Given the description of an element on the screen output the (x, y) to click on. 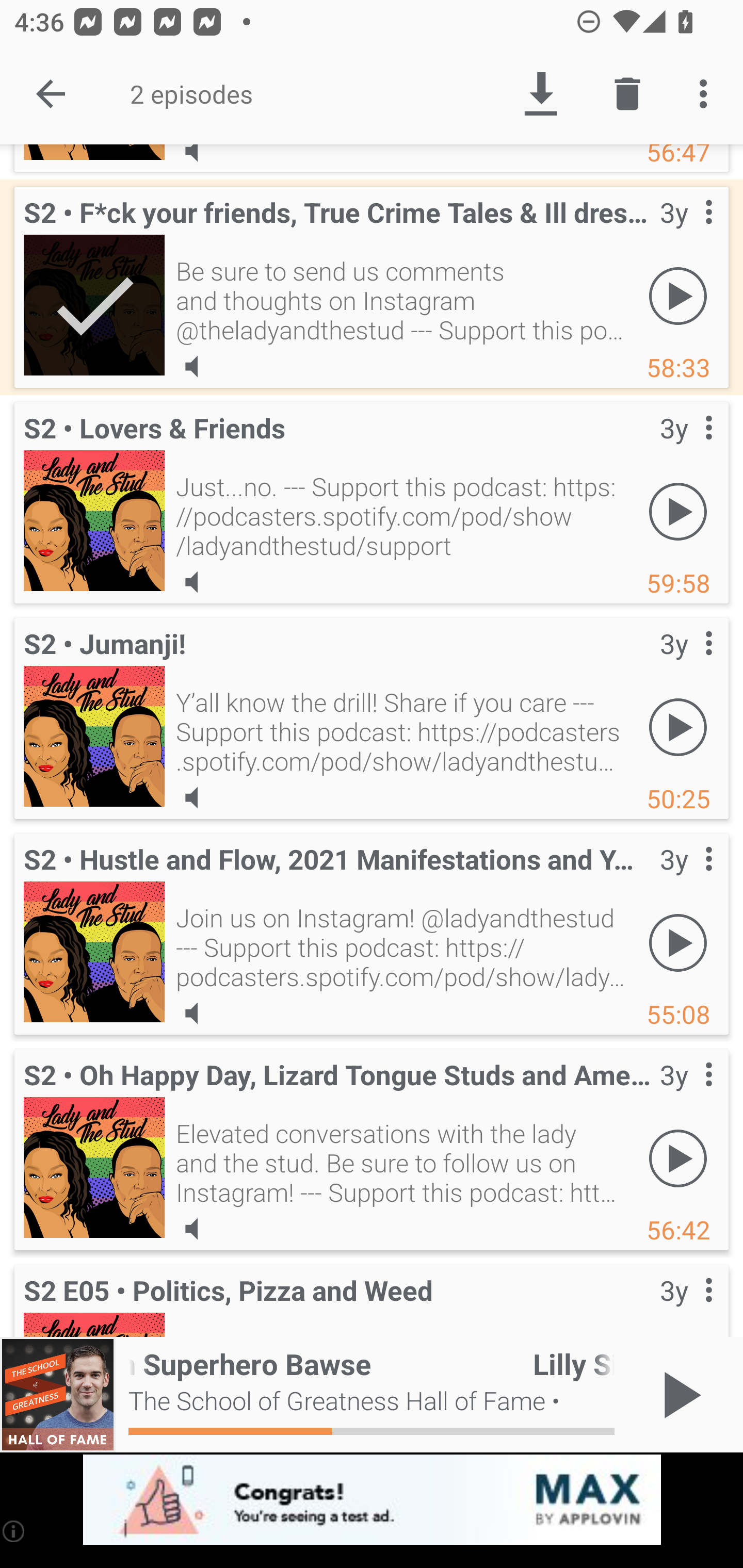
Done (50, 93)
Download (540, 93)
Delete episode (626, 93)
More options (706, 93)
Contextual menu (685, 232)
Play (677, 296)
Contextual menu (685, 448)
Lovers & Friends (93, 520)
Play (677, 511)
Contextual menu (685, 663)
Jumanji! (93, 735)
Play (677, 727)
Contextual menu (685, 879)
Play (677, 943)
Contextual menu (685, 1095)
Play (677, 1158)
Contextual menu (685, 1302)
Play / Pause (677, 1394)
app-monetization (371, 1500)
(i) (14, 1531)
